Given the description of an element on the screen output the (x, y) to click on. 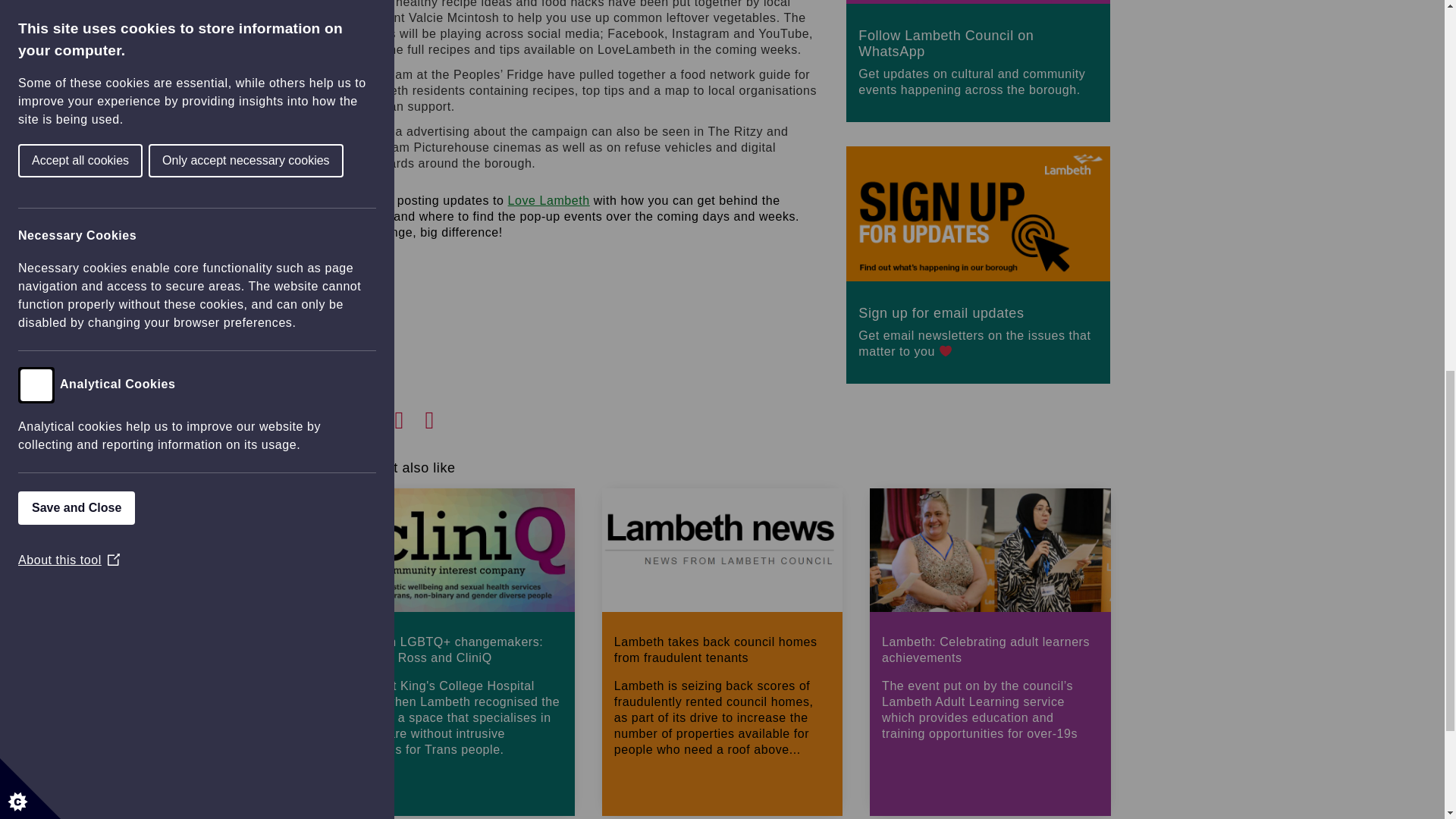
share this on google plus (409, 415)
Love Lambeth (548, 200)
Lambeth: Celebrating adult learners achievements (989, 653)
share this on twitter (379, 415)
share this on Facebook (348, 415)
Lambeth takes back council homes from fraudulent tenants (722, 653)
